Given the description of an element on the screen output the (x, y) to click on. 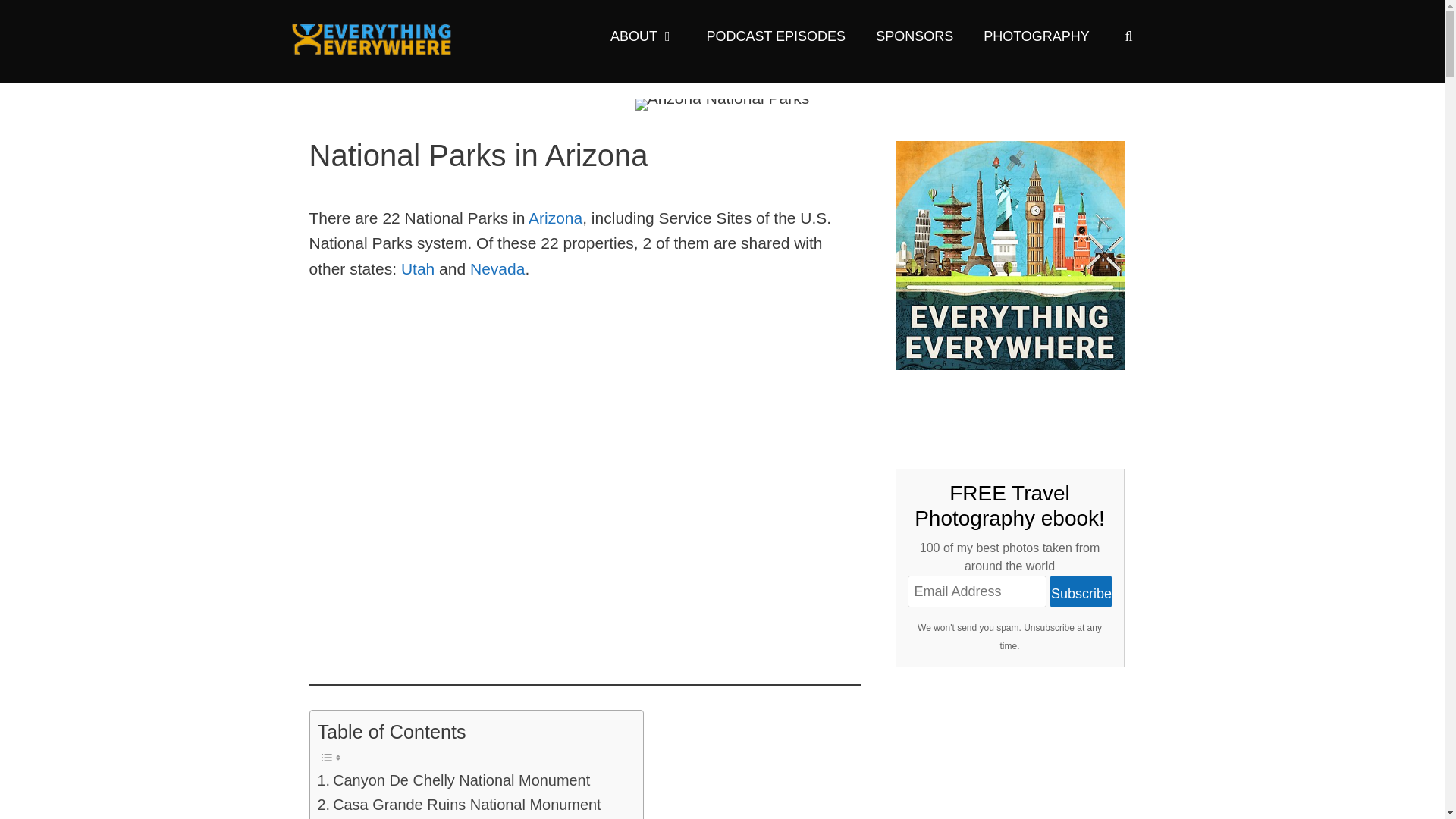
Utah (417, 268)
PHOTOGRAPHY (1036, 36)
Canyon De Chelly National Monument (453, 781)
PODCAST EPISODES (775, 36)
Canyon De Chelly National Monument (453, 781)
SPONSORS (914, 36)
Arizona National Parks (721, 104)
ABOUT (642, 36)
